Given the description of an element on the screen output the (x, y) to click on. 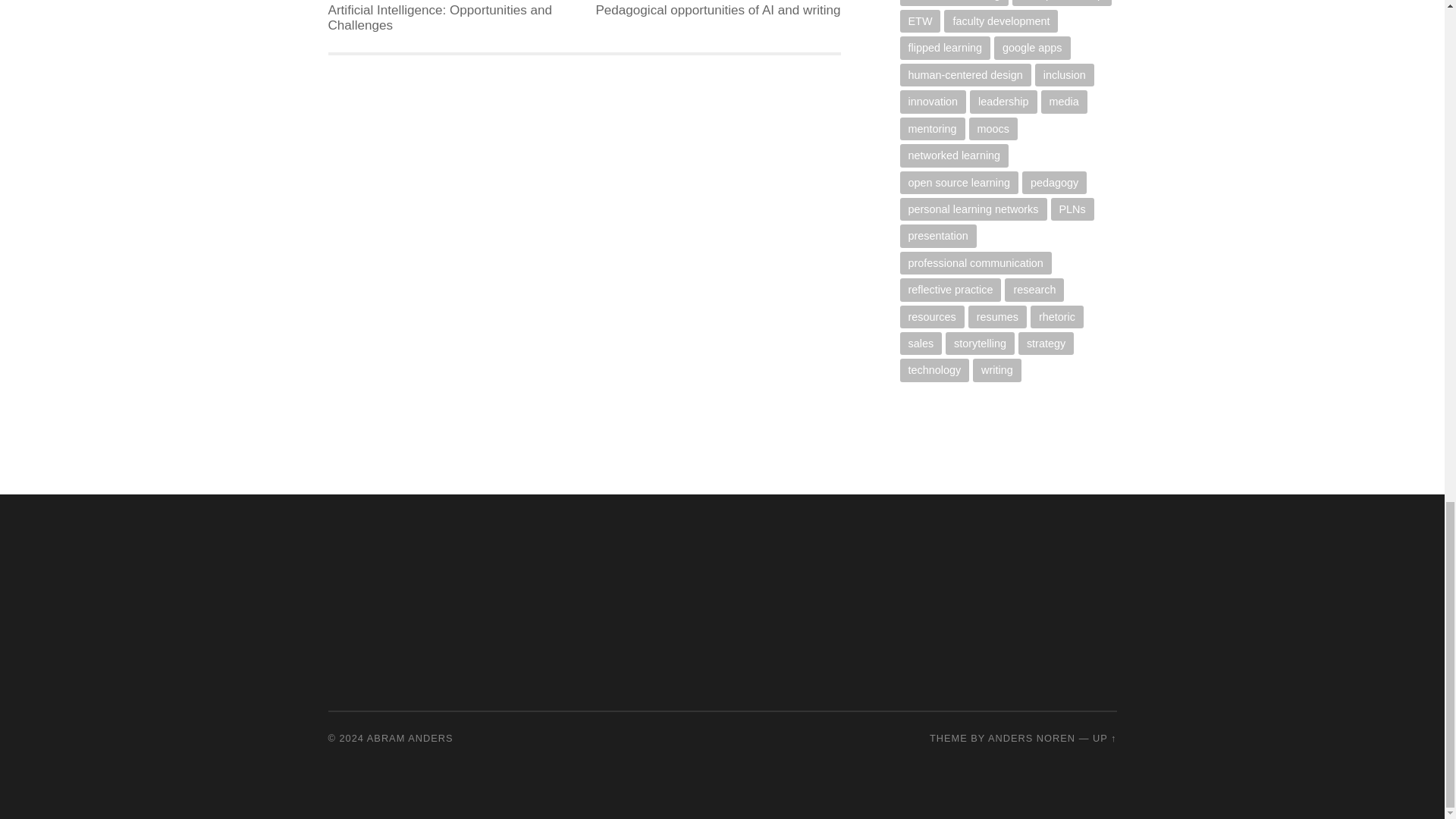
To the top (1104, 737)
